Given the description of an element on the screen output the (x, y) to click on. 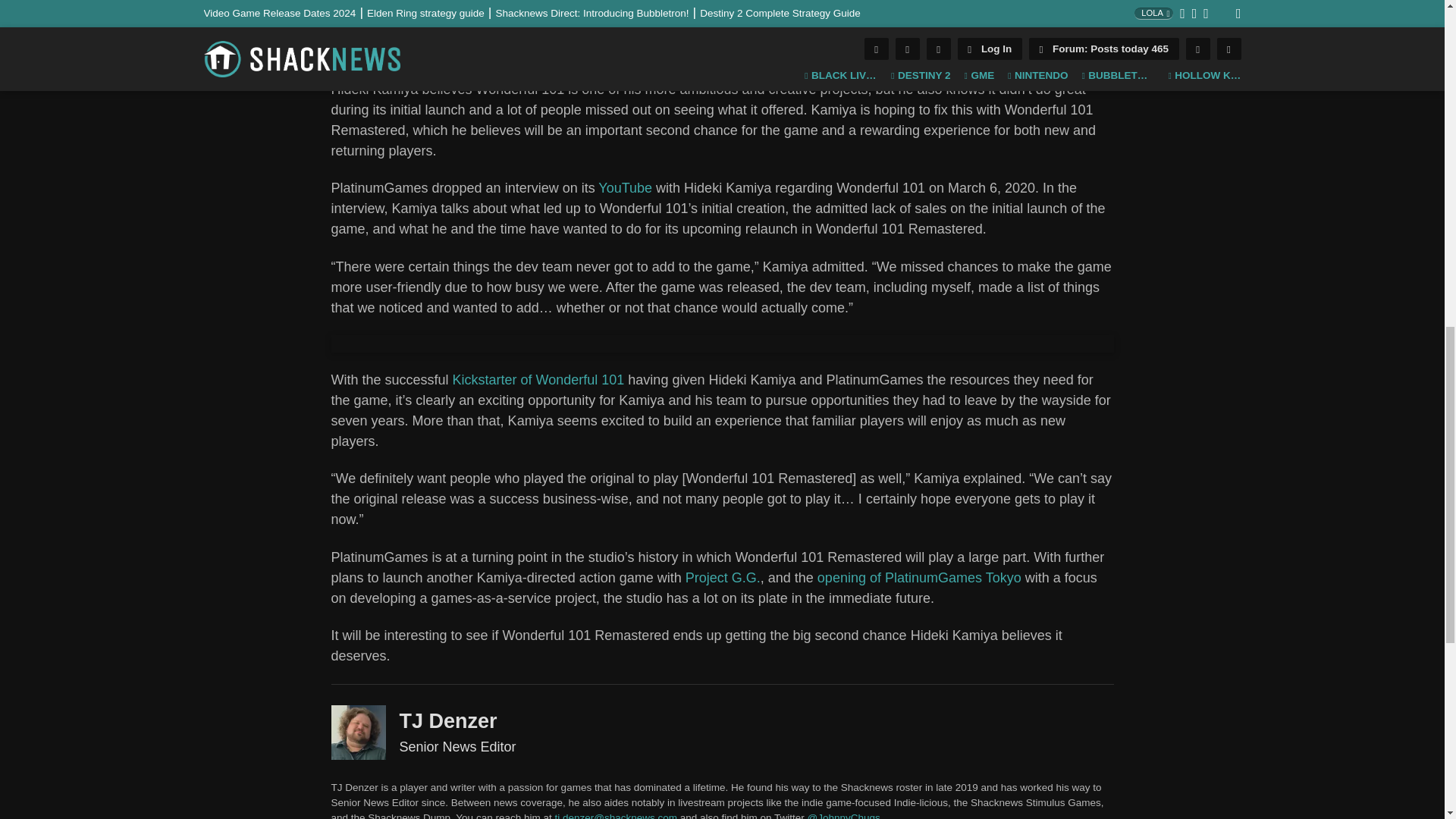
Senior News Editor (357, 732)
TJ Denzer (340, 23)
